Given the description of an element on the screen output the (x, y) to click on. 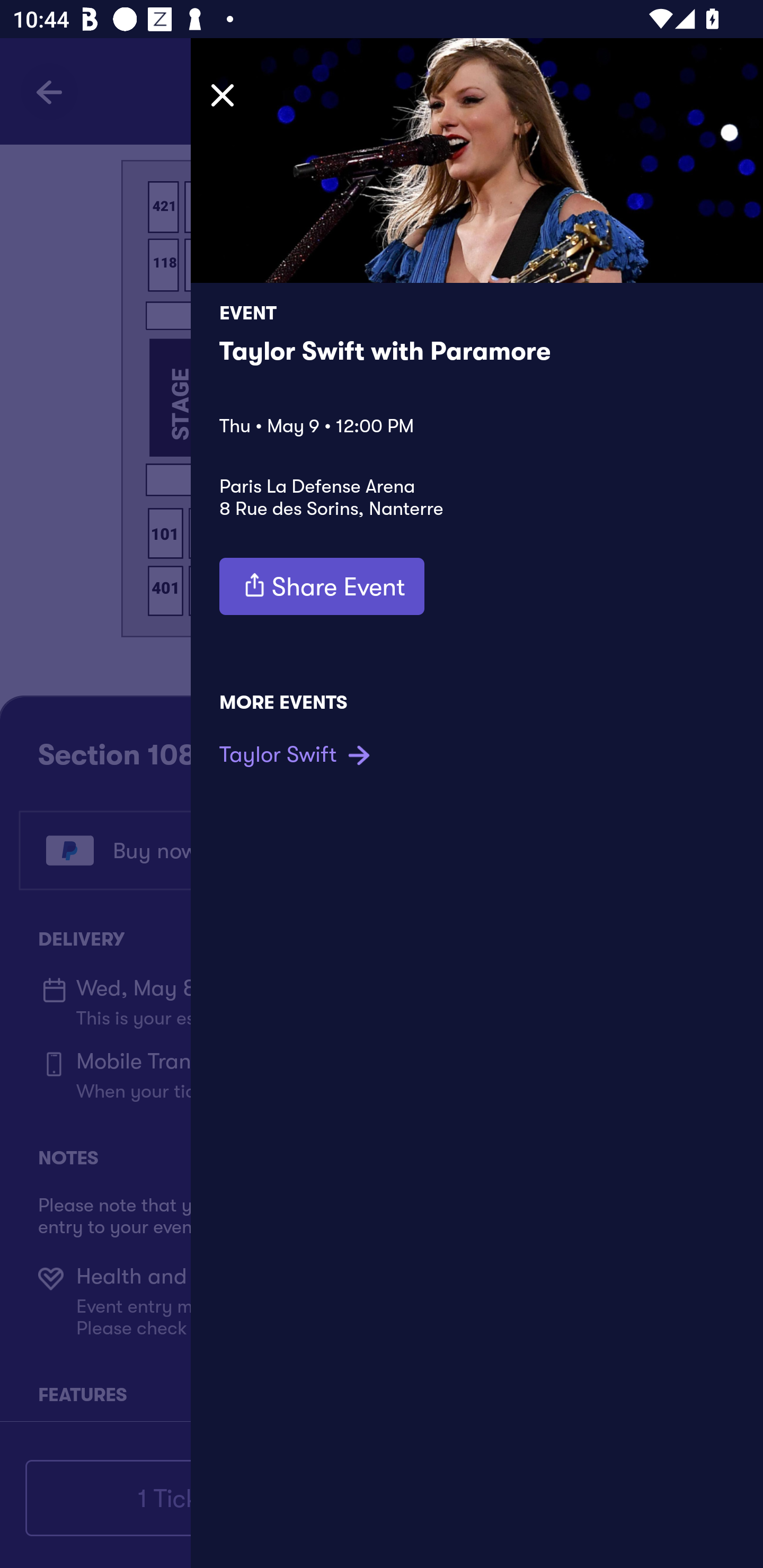
Share Event (321, 586)
Taylor Swift (297, 753)
